Given the description of an element on the screen output the (x, y) to click on. 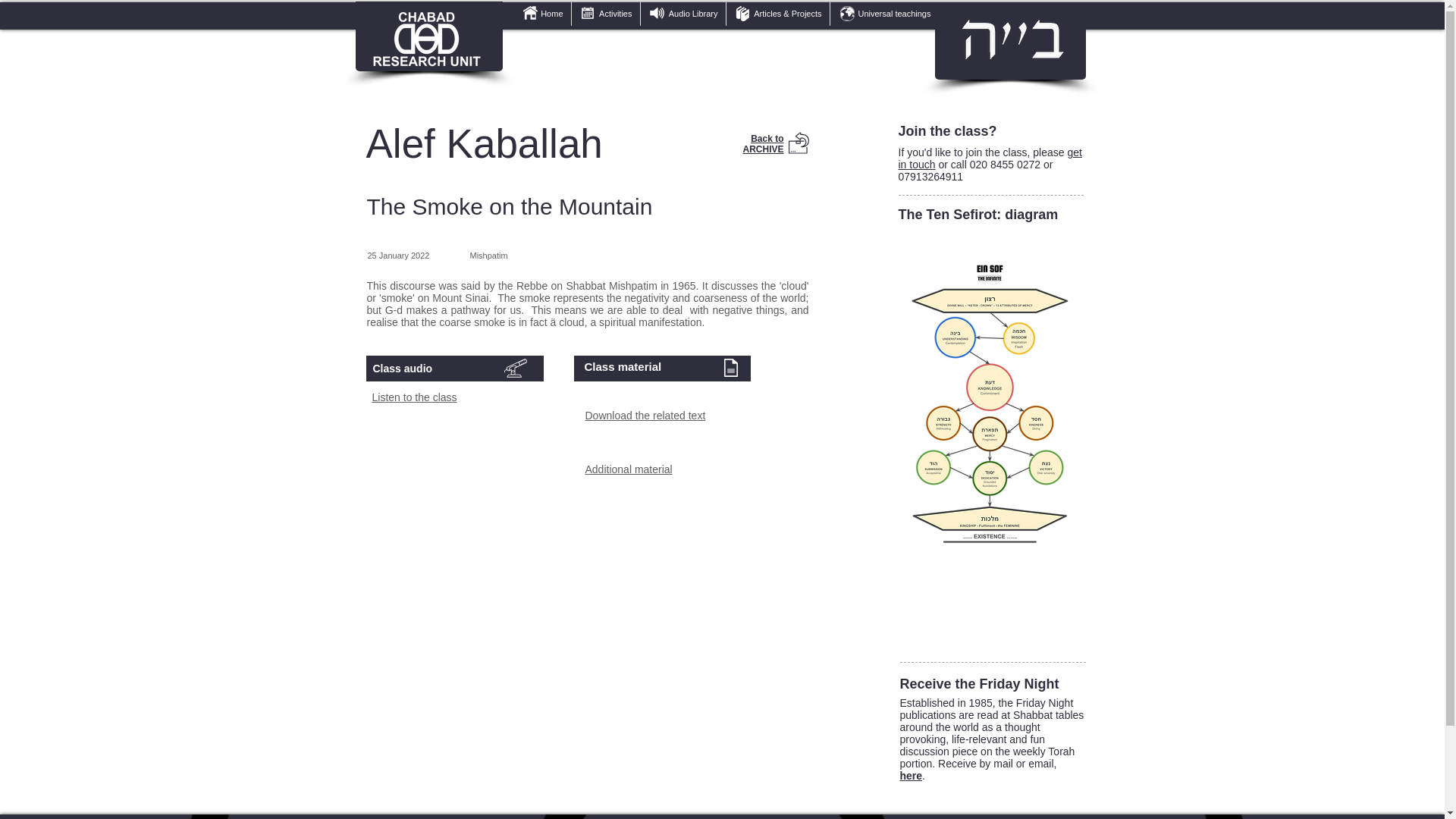
get in touch (989, 158)
Back to ARCHIVE (762, 143)
Audio Library (682, 13)
Listen to the class (414, 397)
Download the related text (645, 415)
Home (541, 13)
Universal teachings (883, 13)
Additional material (628, 469)
Activities (606, 13)
here (910, 775)
